Given the description of an element on the screen output the (x, y) to click on. 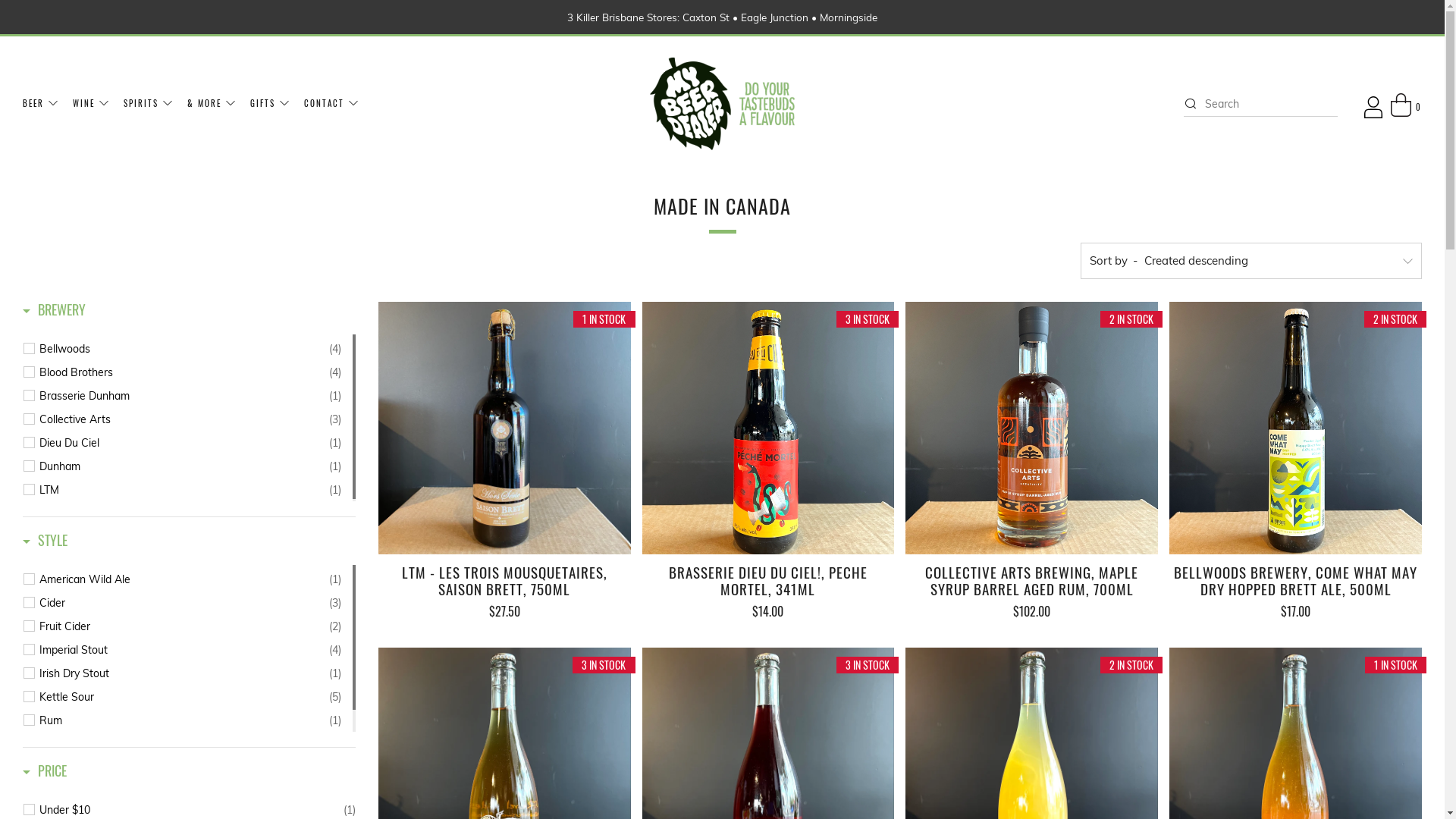
Kettle Sour
(5) Element type: text (190, 696)
LTM - LES TROIS MOUSQUETAIRES, SAISON BRETT, 750ML
$27.50 Element type: text (504, 592)
SPIRITS Element type: text (148, 103)
Dieu Du Ciel
(1) Element type: text (190, 442)
STYLE Element type: text (44, 542)
Brasserie Dieu du Ciel!, Peche Mortel, 341ml Element type: hover (768, 427)
Brasserie Dunham
(1) Element type: text (190, 395)
WINE Element type: text (90, 103)
LTM
(1) Element type: text (190, 489)
Collective Arts Brewing, Maple Syrup Barrel Aged Rum, 700ml Element type: hover (1031, 427)
Cider
(3) Element type: text (190, 602)
0 Element type: text (1405, 104)
Dunham
(1) Element type: text (190, 466)
PRICE Element type: text (44, 773)
BRASSERIE DIEU DU CIEL!, PECHE MORTEL, 341ML
$14.00 Element type: text (768, 592)
Blood Brothers
(4) Element type: text (190, 372)
Imperial Stout
(4) Element type: text (190, 649)
Search Element type: text (1189, 103)
GIFTS Element type: text (270, 103)
Bellwoods
(4) Element type: text (190, 348)
Saison
(2) Element type: text (190, 743)
Fruit Cider
(2) Element type: text (190, 626)
Rum
(1) Element type: text (190, 720)
& MORE Element type: text (211, 103)
American Wild Ale
(1) Element type: text (190, 579)
BEER Element type: text (40, 103)
BREWERY Element type: text (53, 312)
Bellwoods Brewery, Come What May Dry Hopped Brett Ale, 500ml Element type: hover (1295, 427)
CONTACT Element type: text (331, 103)
Irish Dry Stout
(1) Element type: text (190, 673)
Collective Arts
(3) Element type: text (190, 419)
LTM - Les Trois Mousquetaires, Saison Brett, 750ml Element type: hover (504, 427)
